Given the description of an element on the screen output the (x, y) to click on. 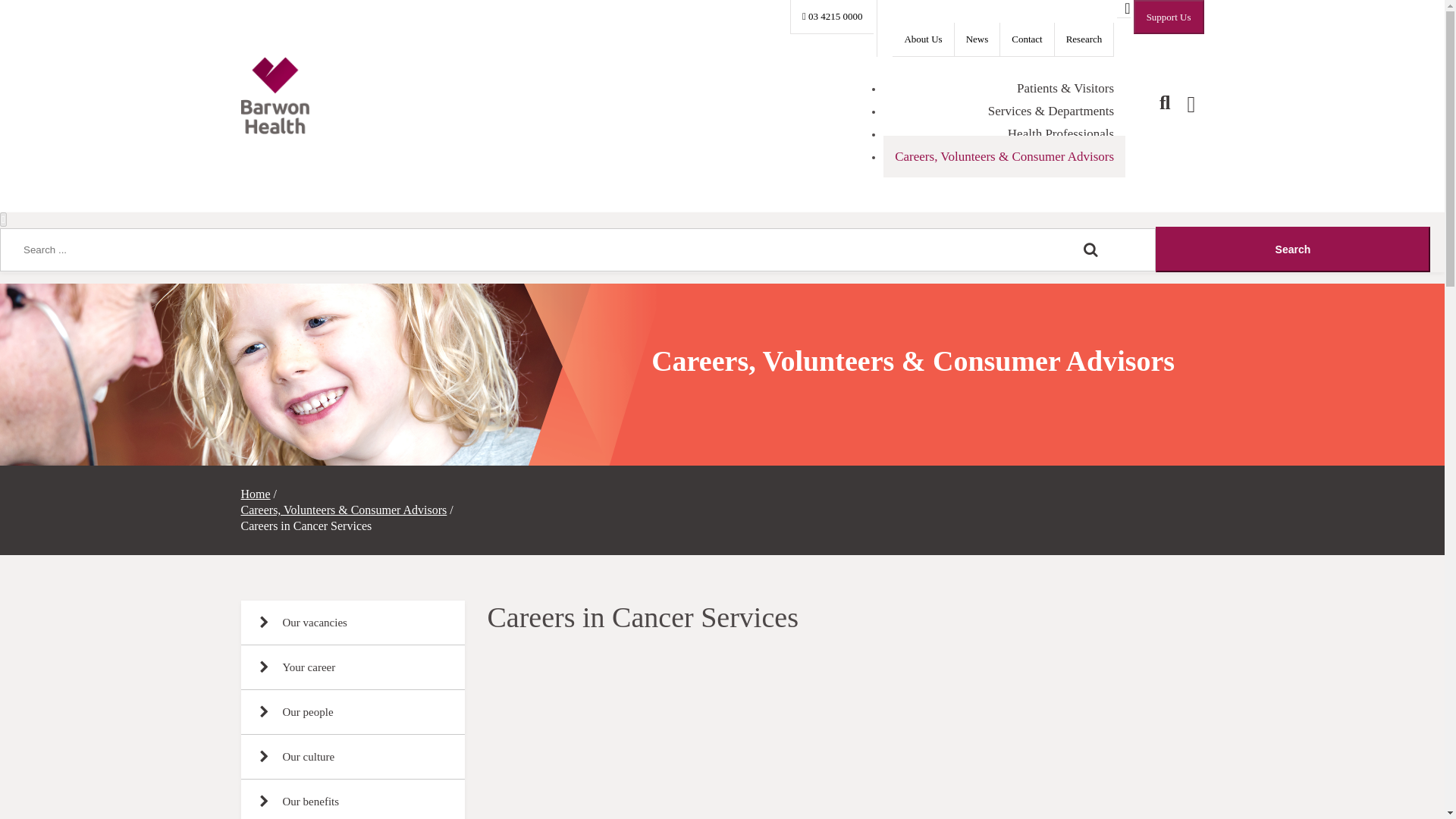
Go (1292, 248)
